Given the description of an element on the screen output the (x, y) to click on. 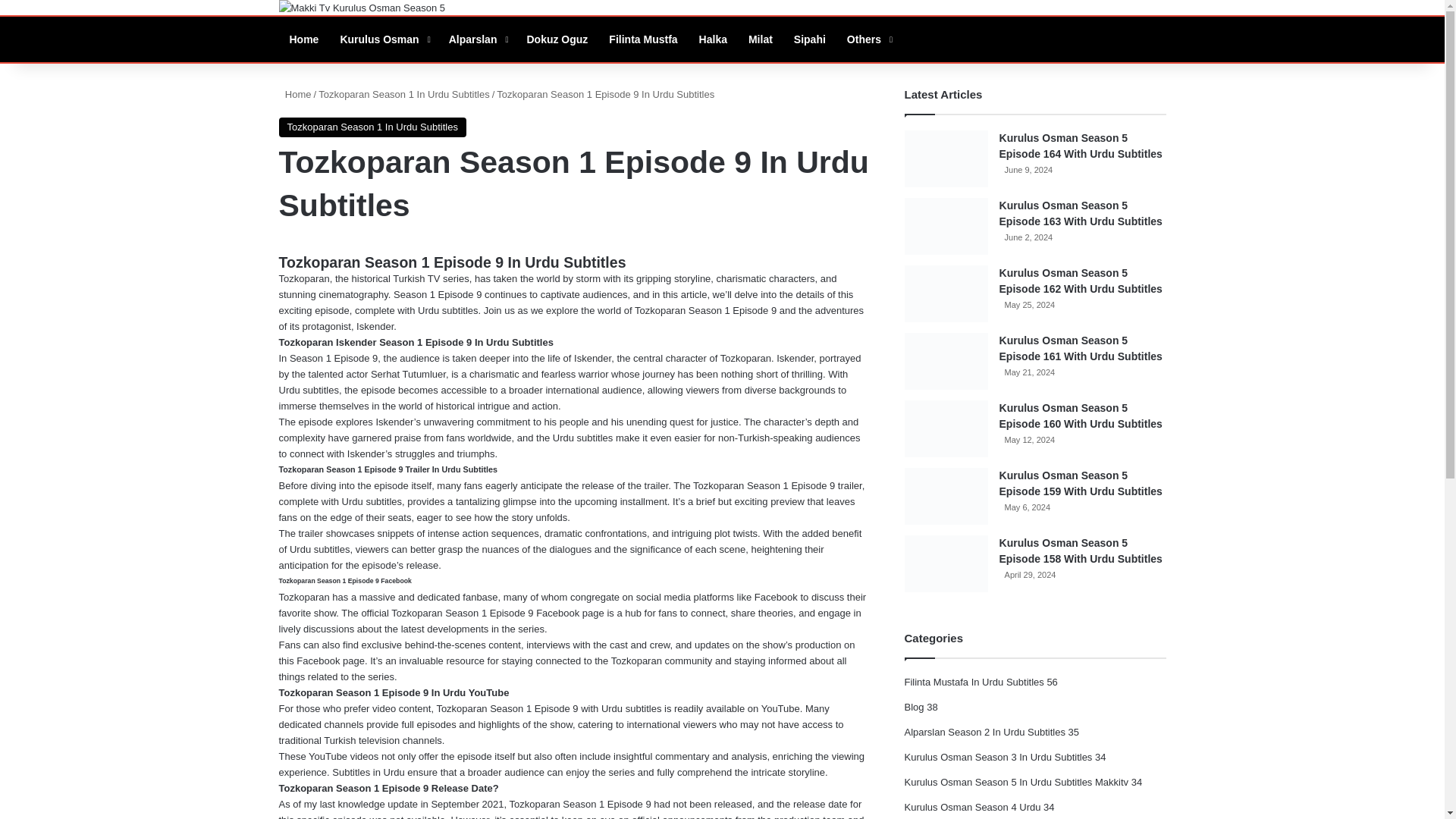
Sipahi (809, 39)
Home (304, 39)
Tozkoparan Season 1 In Urdu Subtitles (403, 93)
Tozkoparan Season 1 In Urdu Subtitles (372, 127)
Dokuz Oguz (556, 39)
Kurulus Osman (383, 39)
Others (867, 39)
Makki Tv Kurulus Osman Season 5 (362, 7)
Alparslan (477, 39)
Milat (760, 39)
